Given the description of an element on the screen output the (x, y) to click on. 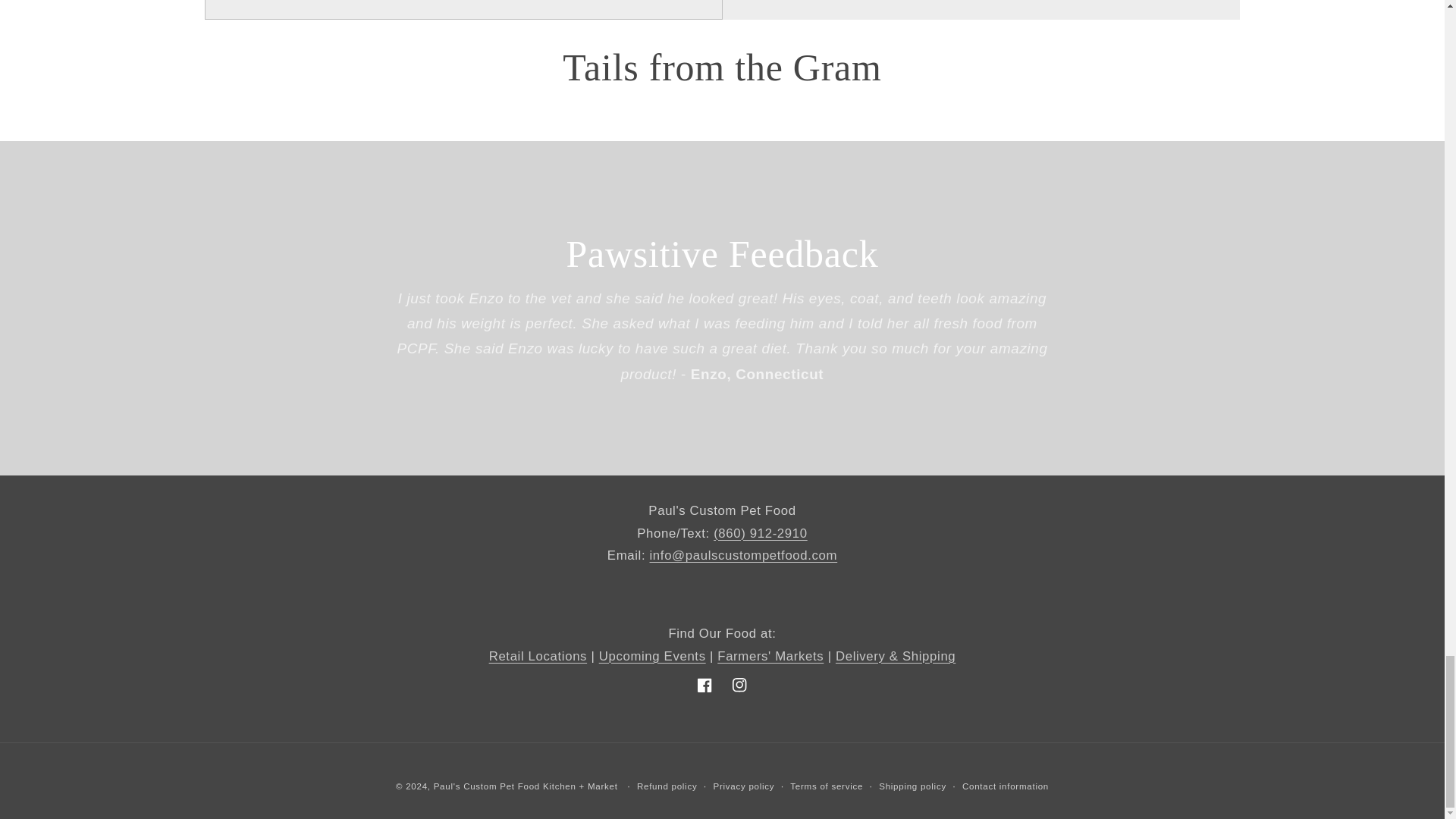
Upcoming Events (652, 656)
Retail Locations (537, 656)
Delivery and Shipping (895, 656)
Farmers' Markets (770, 656)
